Given the description of an element on the screen output the (x, y) to click on. 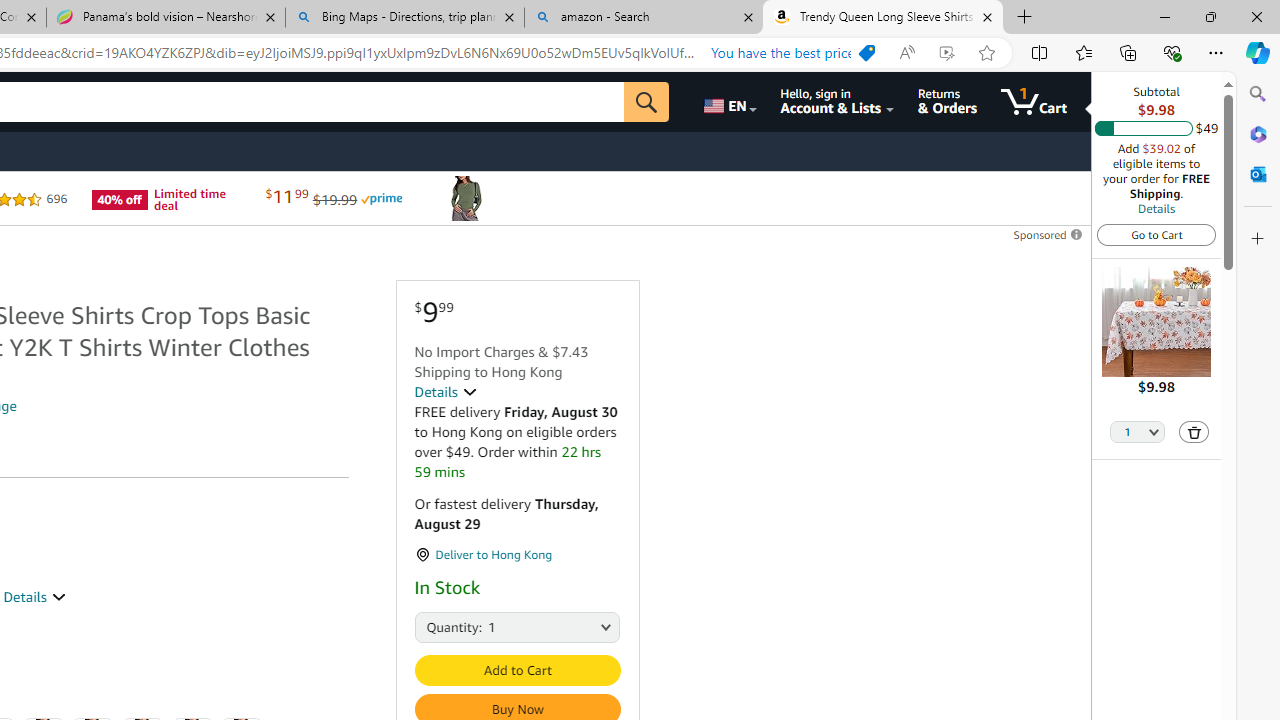
1 item in cart (1034, 101)
You have the best price! (789, 53)
Quantity: (436, 626)
Choose a language for shopping. (728, 101)
Hello, sign in Account & Lists (836, 101)
amazon - Search (643, 17)
